Given the description of an element on the screen output the (x, y) to click on. 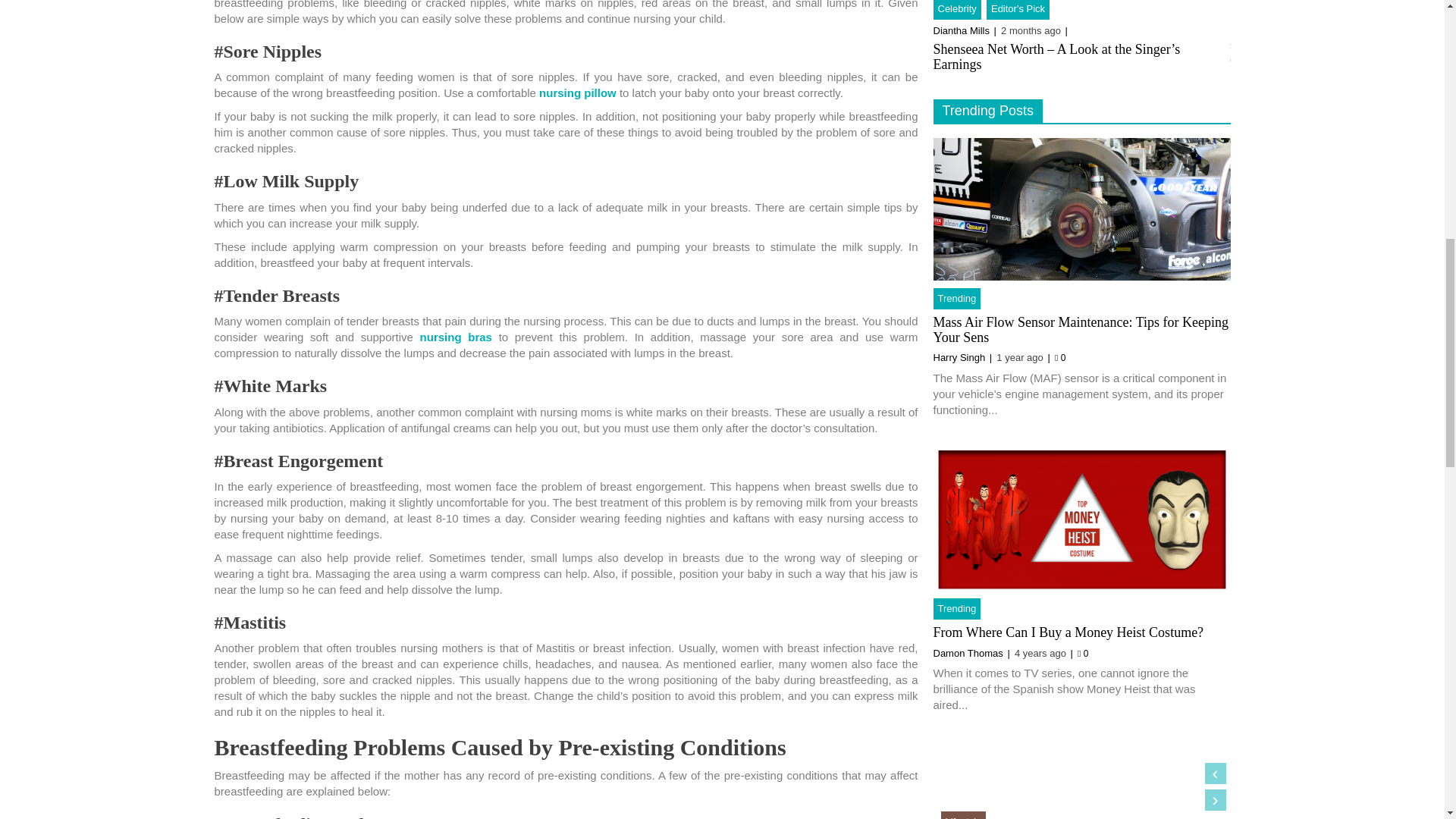
nursing bras (456, 336)
nursing pillow (576, 92)
